Given the description of an element on the screen output the (x, y) to click on. 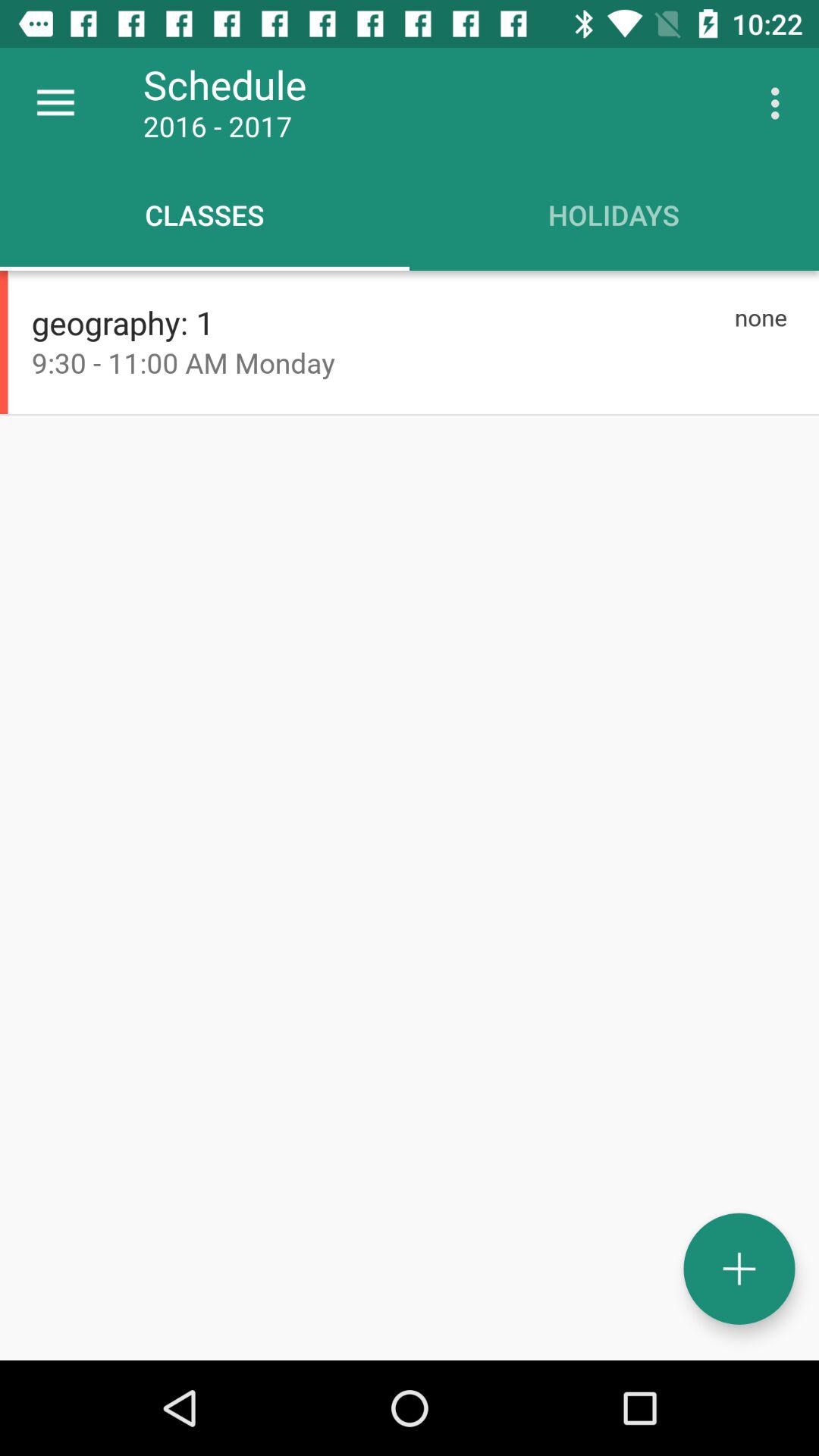
click icon at the bottom right corner (739, 1268)
